Given the description of an element on the screen output the (x, y) to click on. 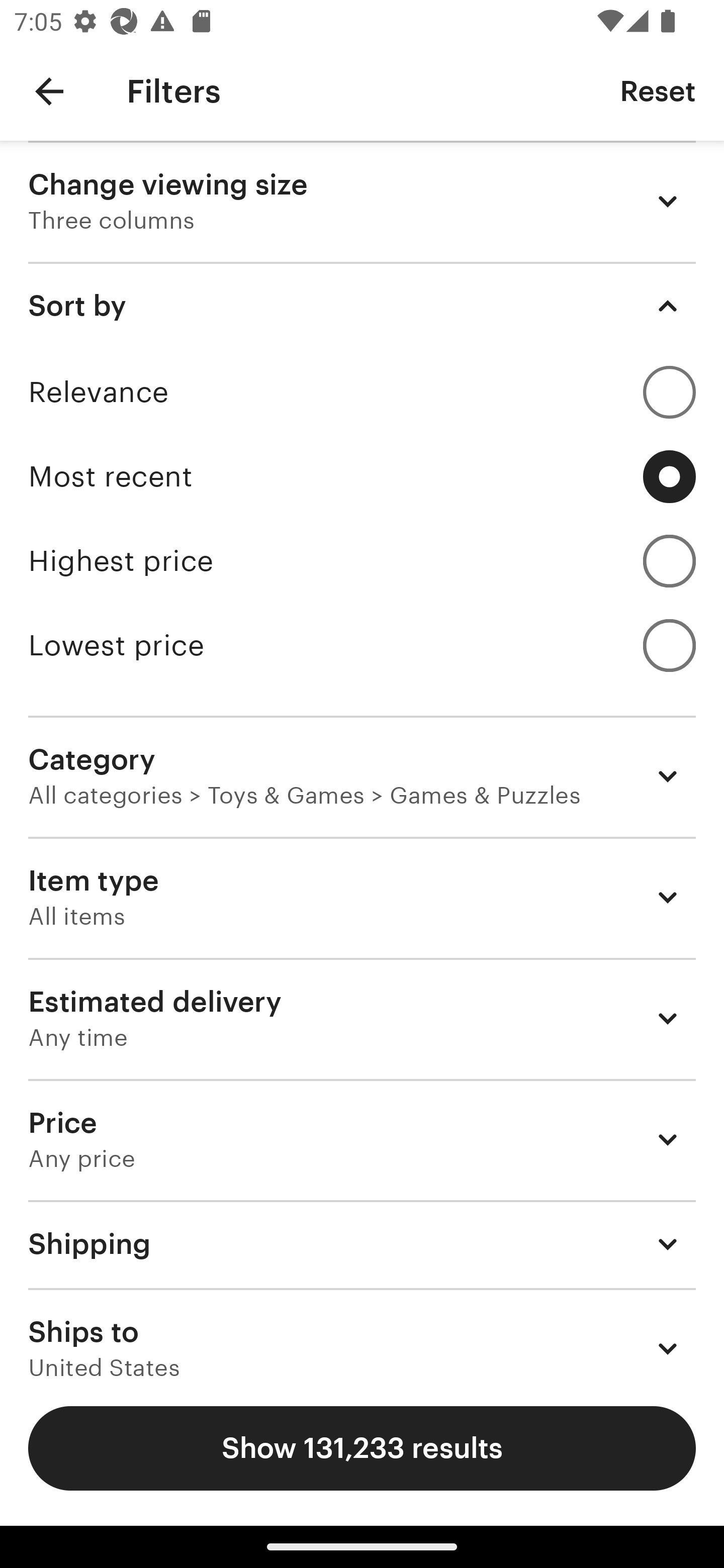
Navigate up (49, 91)
Reset (657, 90)
Change viewing size Three columns (362, 201)
Sort by (362, 305)
Relevance (362, 391)
Most recent (362, 476)
Highest price (362, 561)
Lowest price (362, 644)
Item type All items (362, 897)
Estimated delivery Any time (362, 1018)
Price Any price (362, 1138)
Shipping (362, 1243)
Ships to United States (362, 1332)
Show 131,233 results Show 131,232 results (361, 1448)
